Given the description of an element on the screen output the (x, y) to click on. 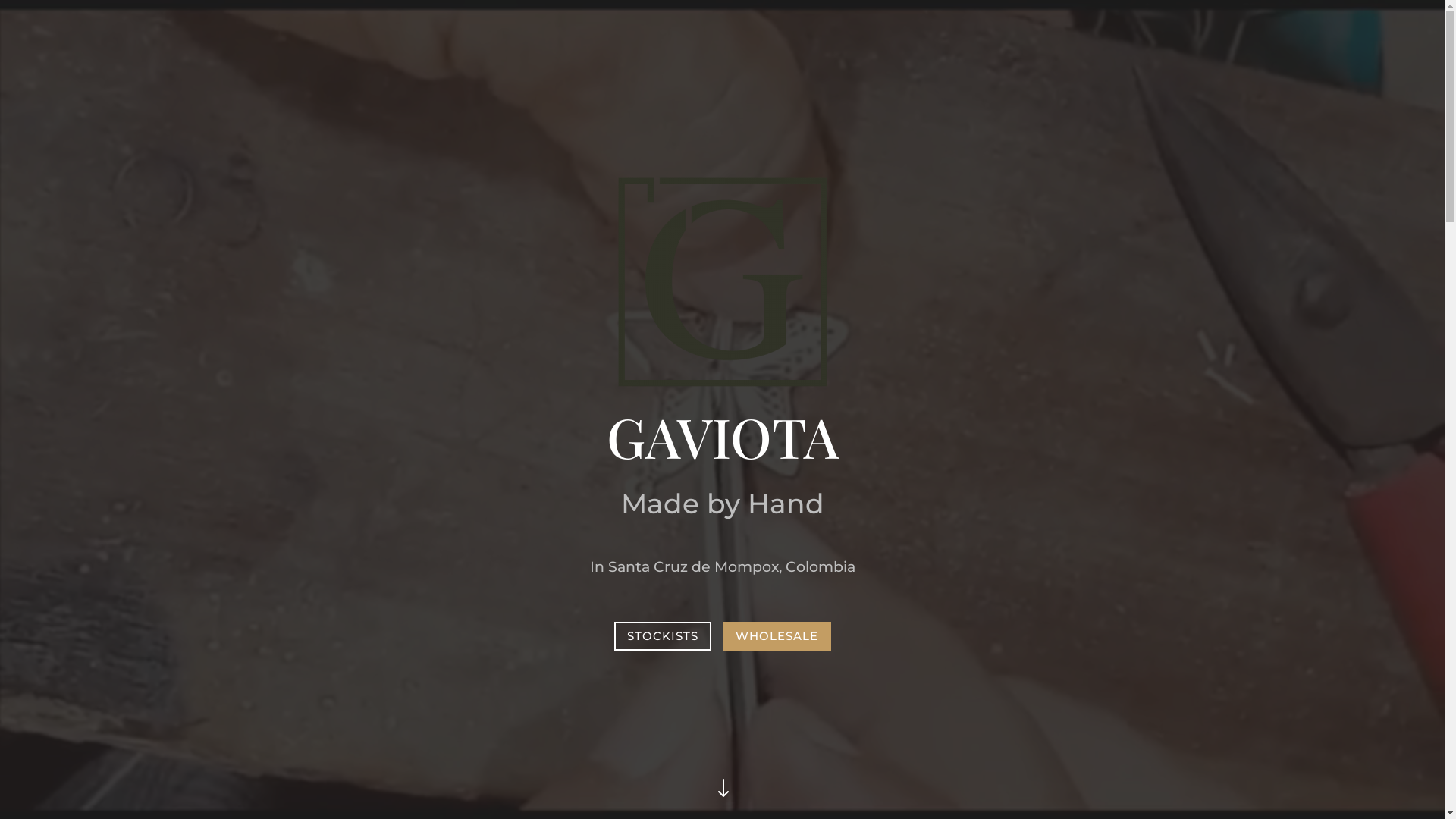
WHOLESALE Element type: text (775, 636)
STOCKISTS Element type: text (662, 636)
" Element type: text (721, 789)
